Given the description of an element on the screen output the (x, y) to click on. 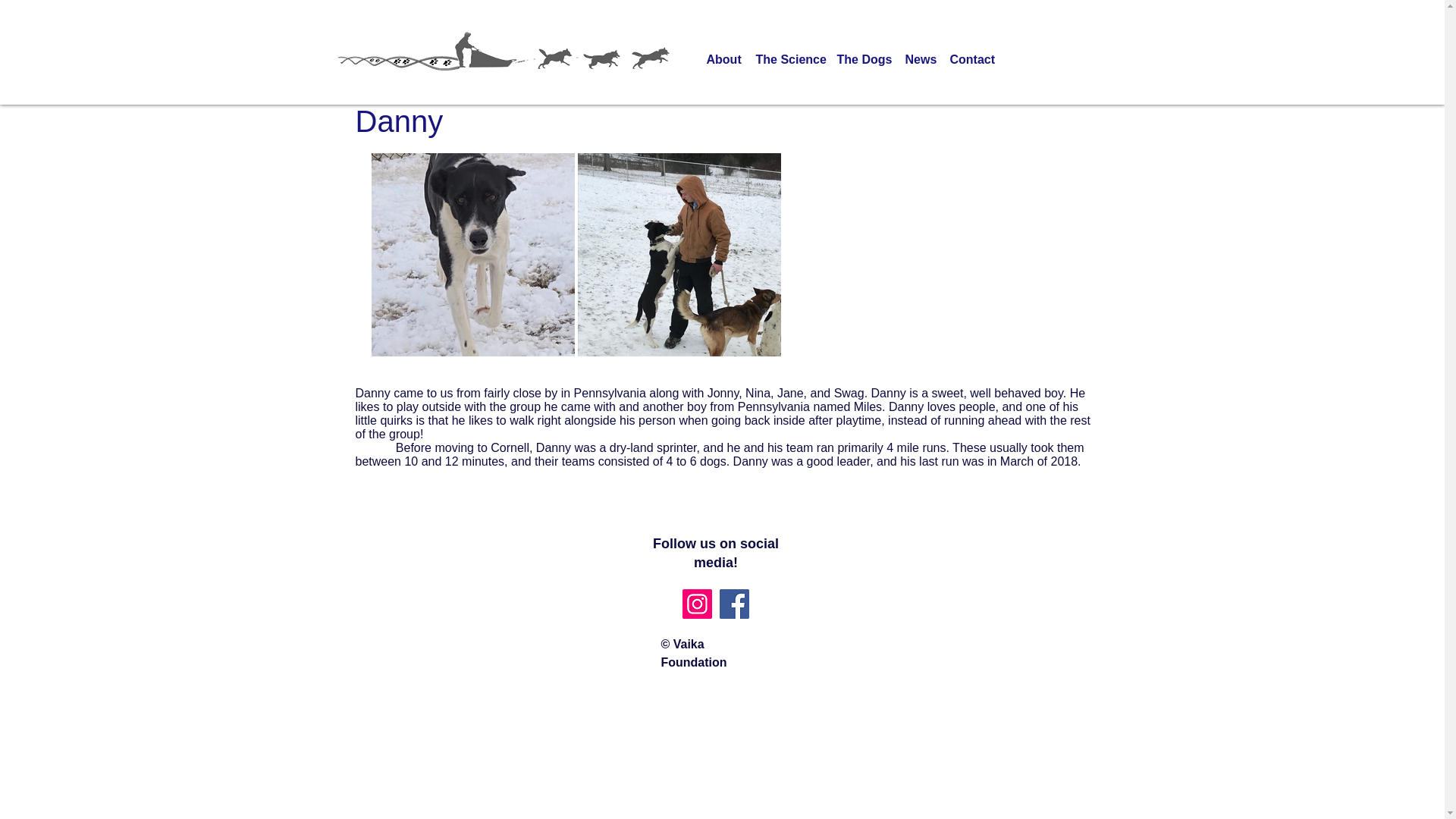
The Dogs (863, 59)
Contact (970, 59)
News (920, 59)
